Given the description of an element on the screen output the (x, y) to click on. 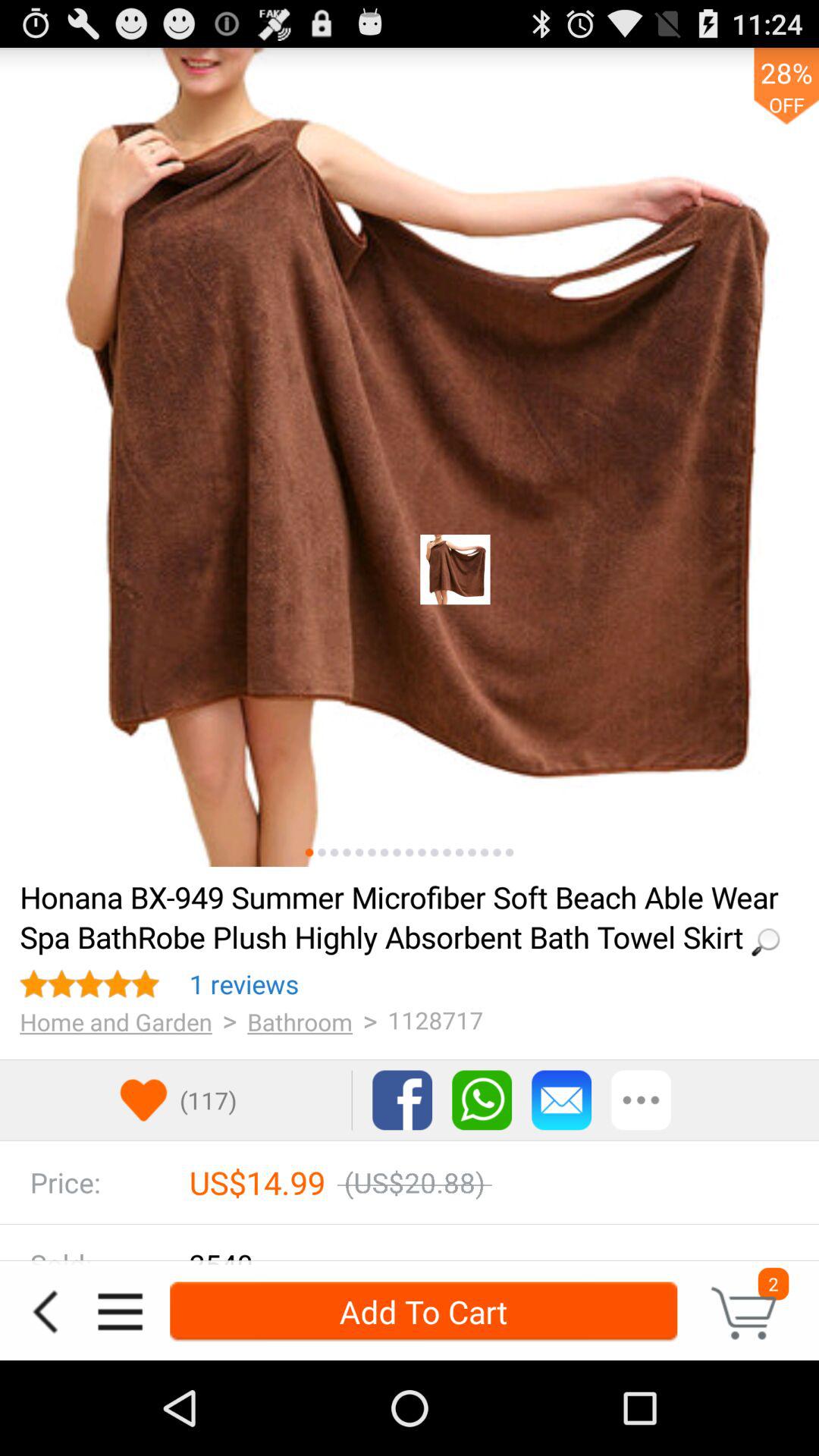
select the icon above the loading... (309, 852)
